Given the description of an element on the screen output the (x, y) to click on. 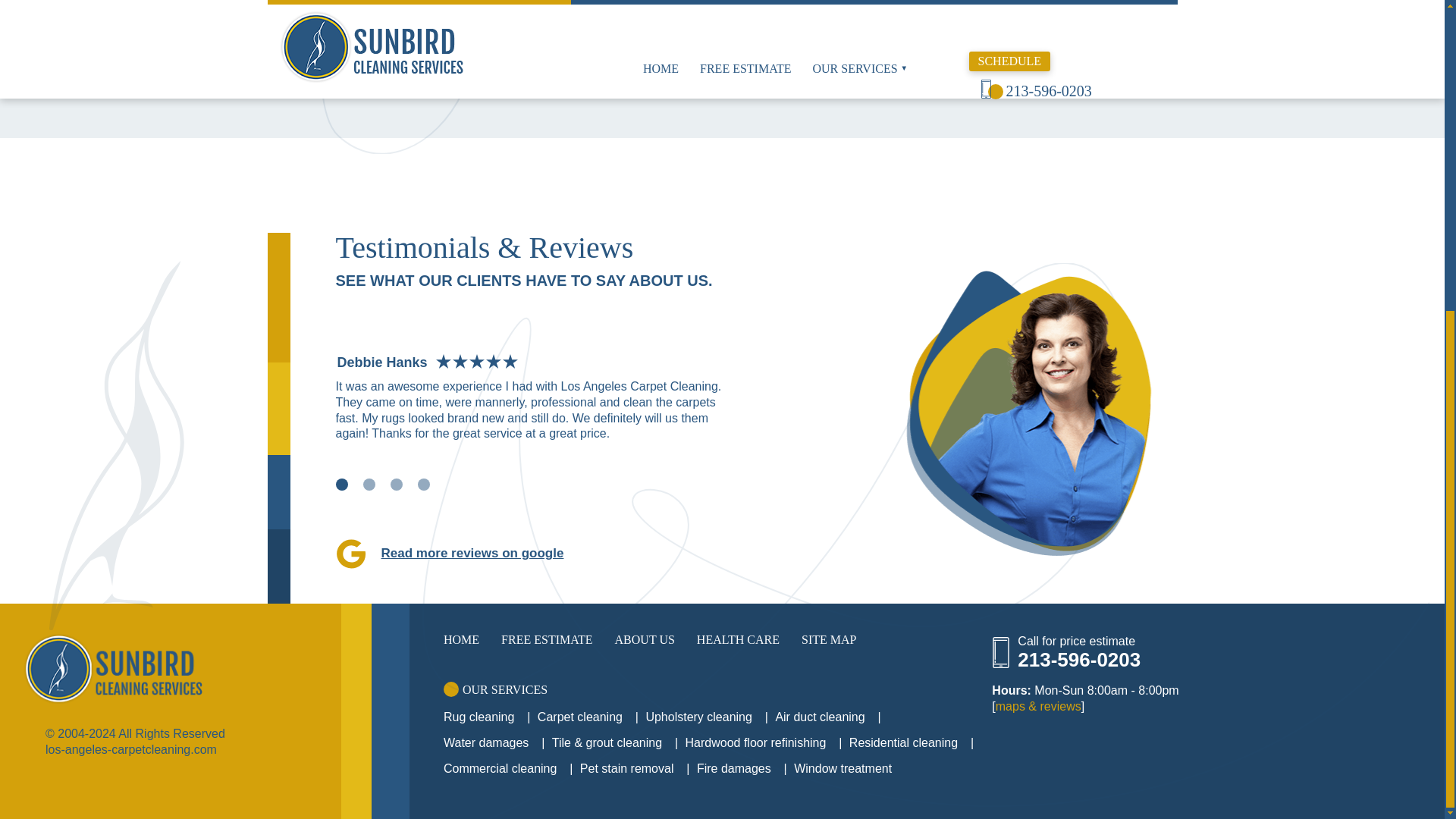
Fire damages (336, 22)
los-angeles-carpetcleaning.com (170, 668)
Pet stain removal (346, 6)
Window treatment (349, 39)
